Given the description of an element on the screen output the (x, y) to click on. 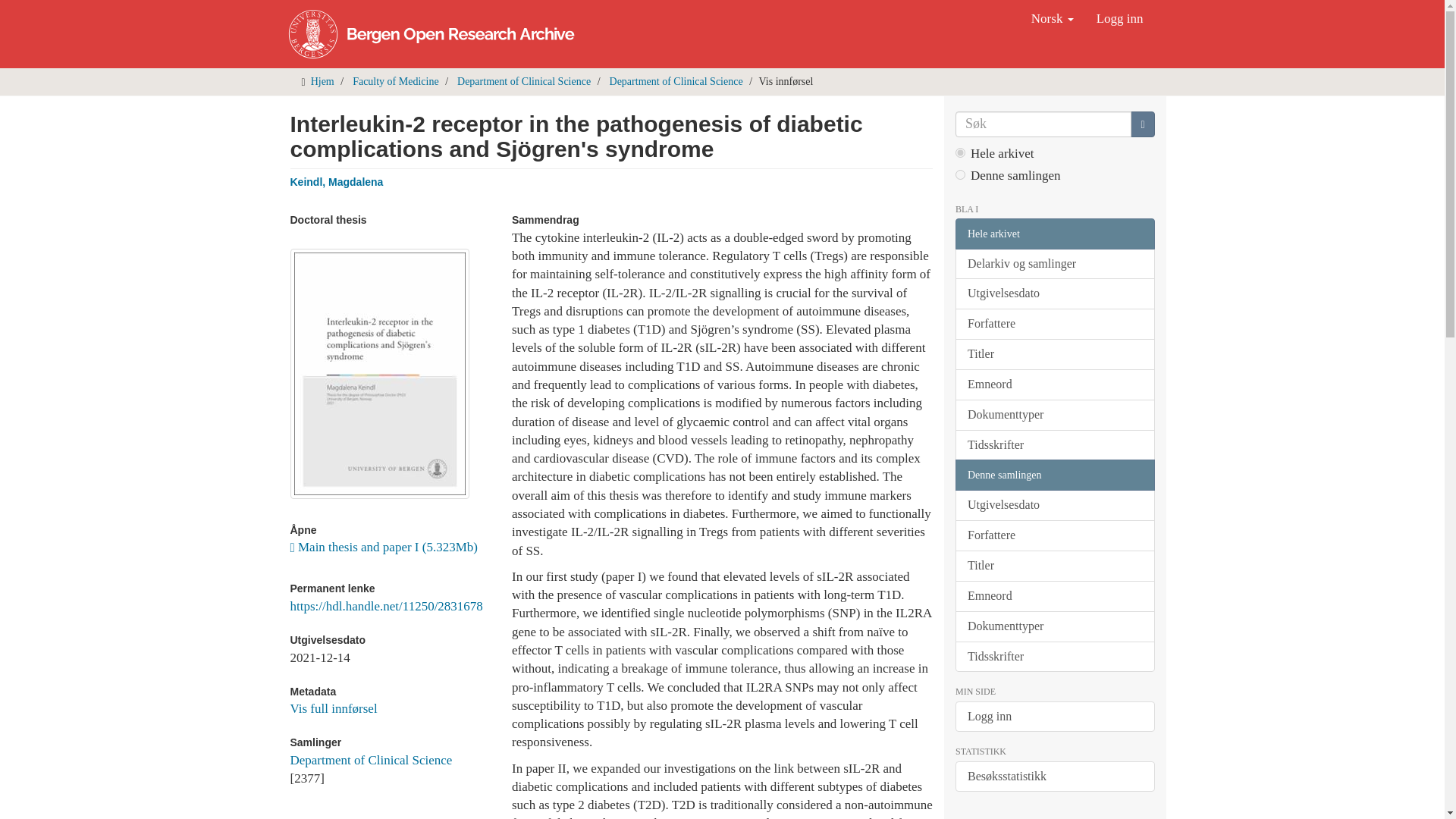
Department of Clinical Science (524, 81)
Keindl, Magdalena (335, 182)
Forfattere (1054, 323)
Logg inn (1119, 18)
Hele arkivet (1054, 233)
Utgivelsesdato (1054, 293)
Norsk  (1052, 18)
Hjem (322, 81)
Delarkiv og samlinger (1054, 264)
Faculty of Medicine (395, 81)
